Given the description of an element on the screen output the (x, y) to click on. 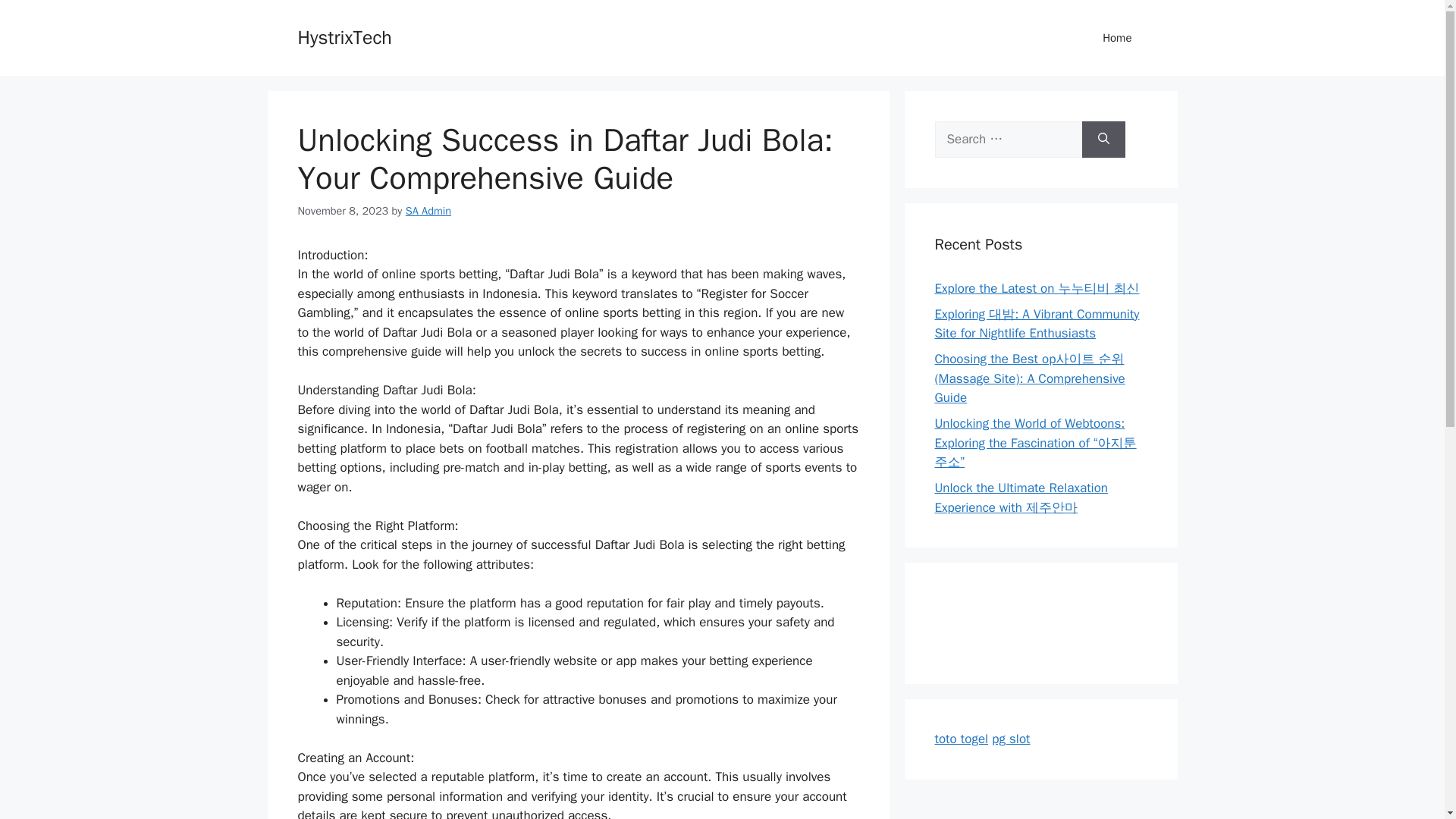
toto togel (961, 738)
SA Admin (428, 210)
Search for: (1007, 139)
HystrixTech (344, 37)
View all posts by SA Admin (428, 210)
Home (1117, 37)
pg slot (1010, 738)
